Given the description of an element on the screen output the (x, y) to click on. 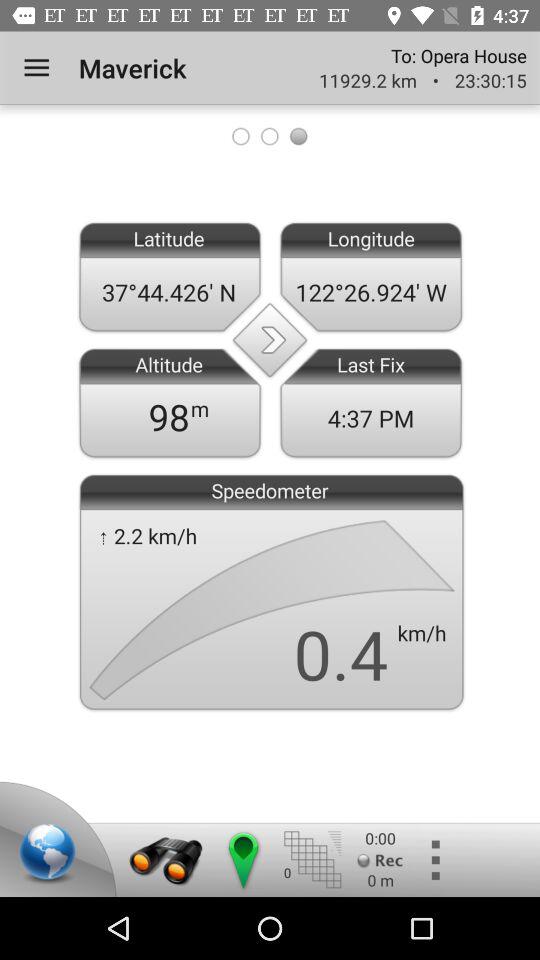
navigate (242, 860)
